Given the description of an element on the screen output the (x, y) to click on. 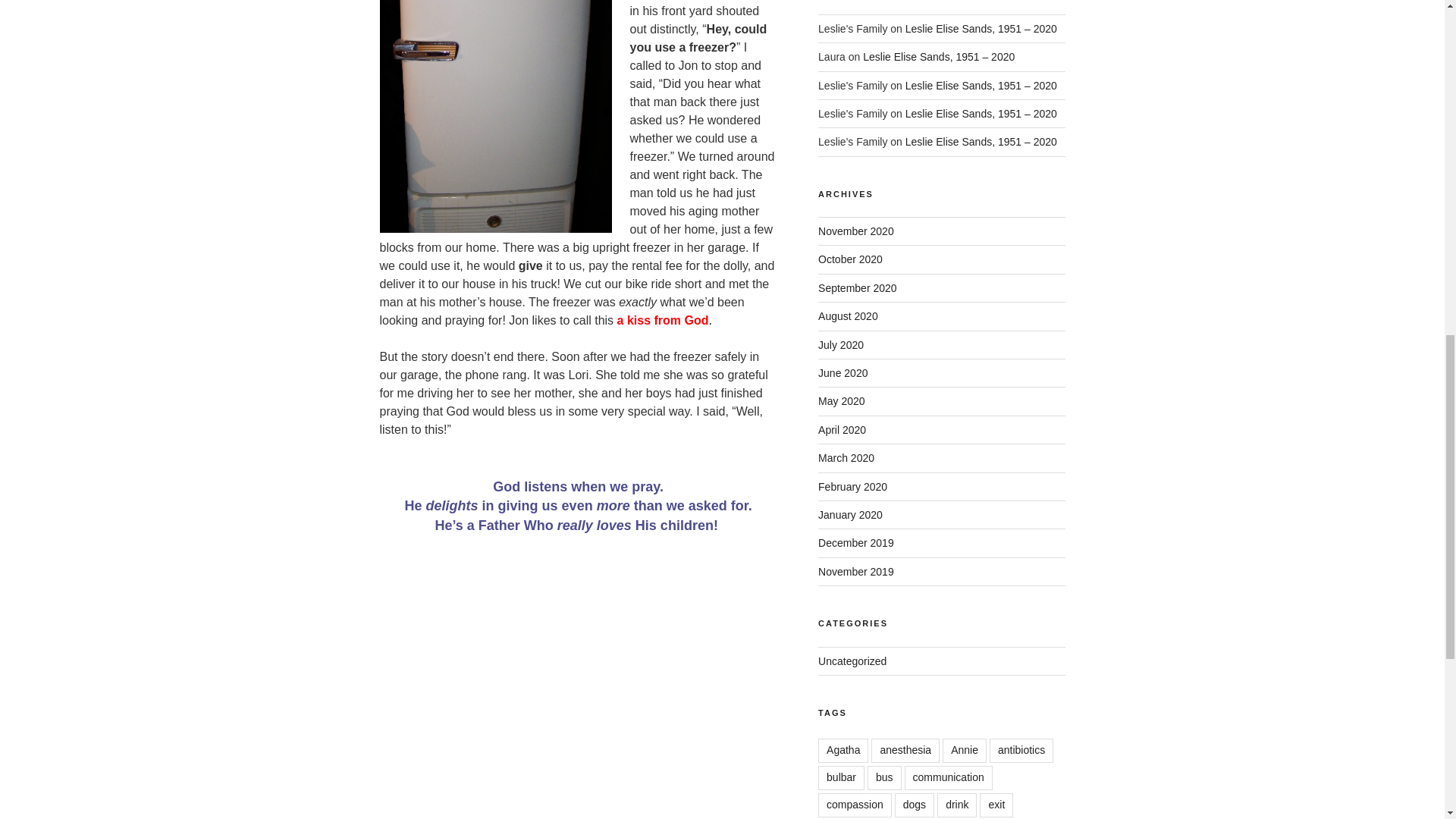
December 2019 (855, 542)
November 2019 (855, 571)
January 2020 (850, 514)
November 2020 (855, 231)
Agatha (842, 750)
July 2020 (840, 345)
June 2020 (842, 372)
May 2020 (841, 400)
August 2020 (847, 316)
anesthesia (904, 750)
Annie (964, 750)
September 2020 (857, 287)
February 2020 (852, 486)
April 2020 (842, 429)
October 2020 (850, 259)
